Given the description of an element on the screen output the (x, y) to click on. 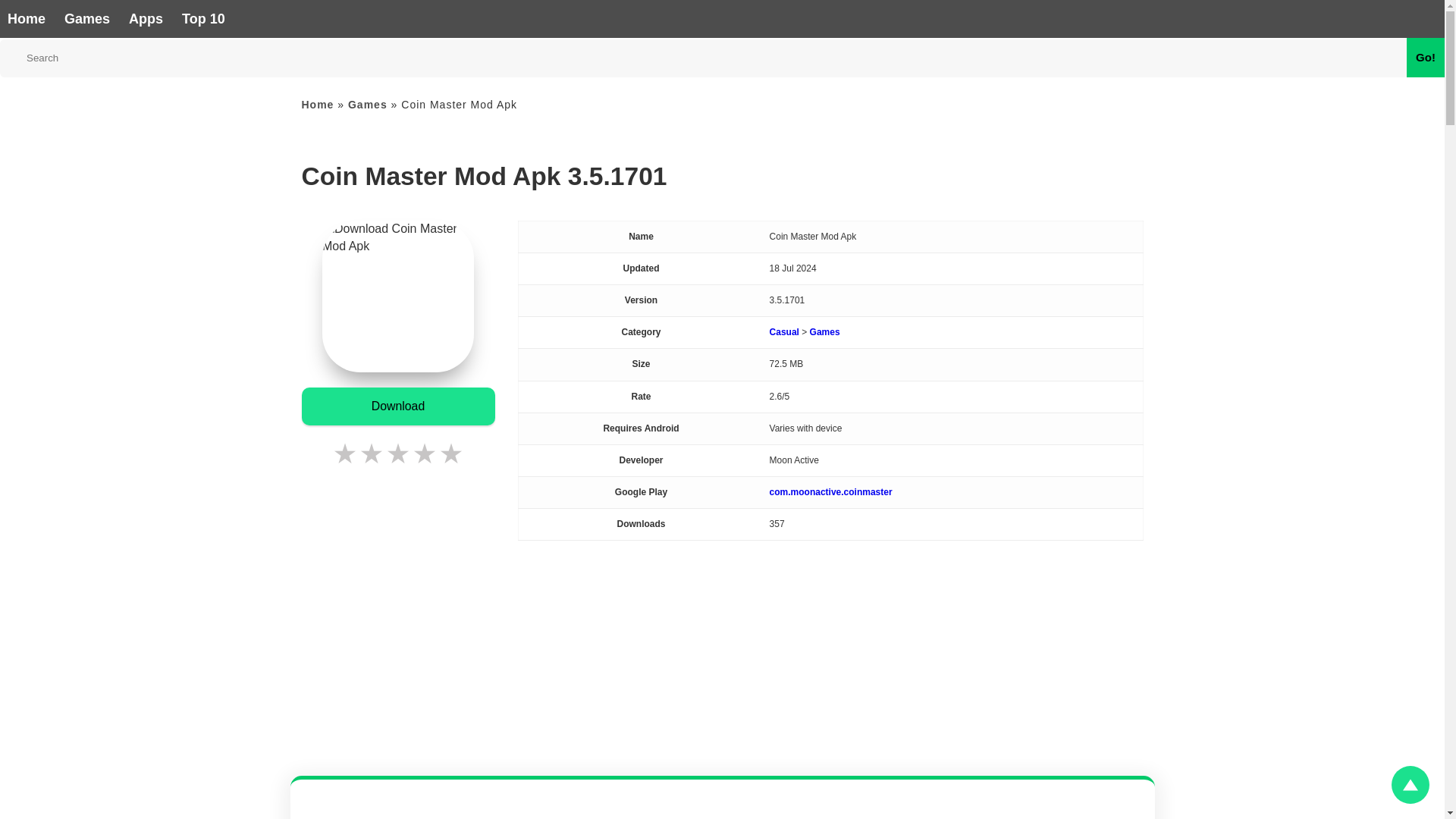
Home (317, 104)
Download (398, 406)
Games (86, 19)
Apps (145, 19)
Download Coin Master Mod Apk (398, 406)
Games (824, 331)
Apk Mod CT Home (26, 19)
Games (86, 19)
com.moonactive.coinmaster (831, 491)
Casual (784, 331)
Home (26, 19)
Top 10 (203, 19)
Games (367, 104)
Apps (145, 19)
